Given the description of an element on the screen output the (x, y) to click on. 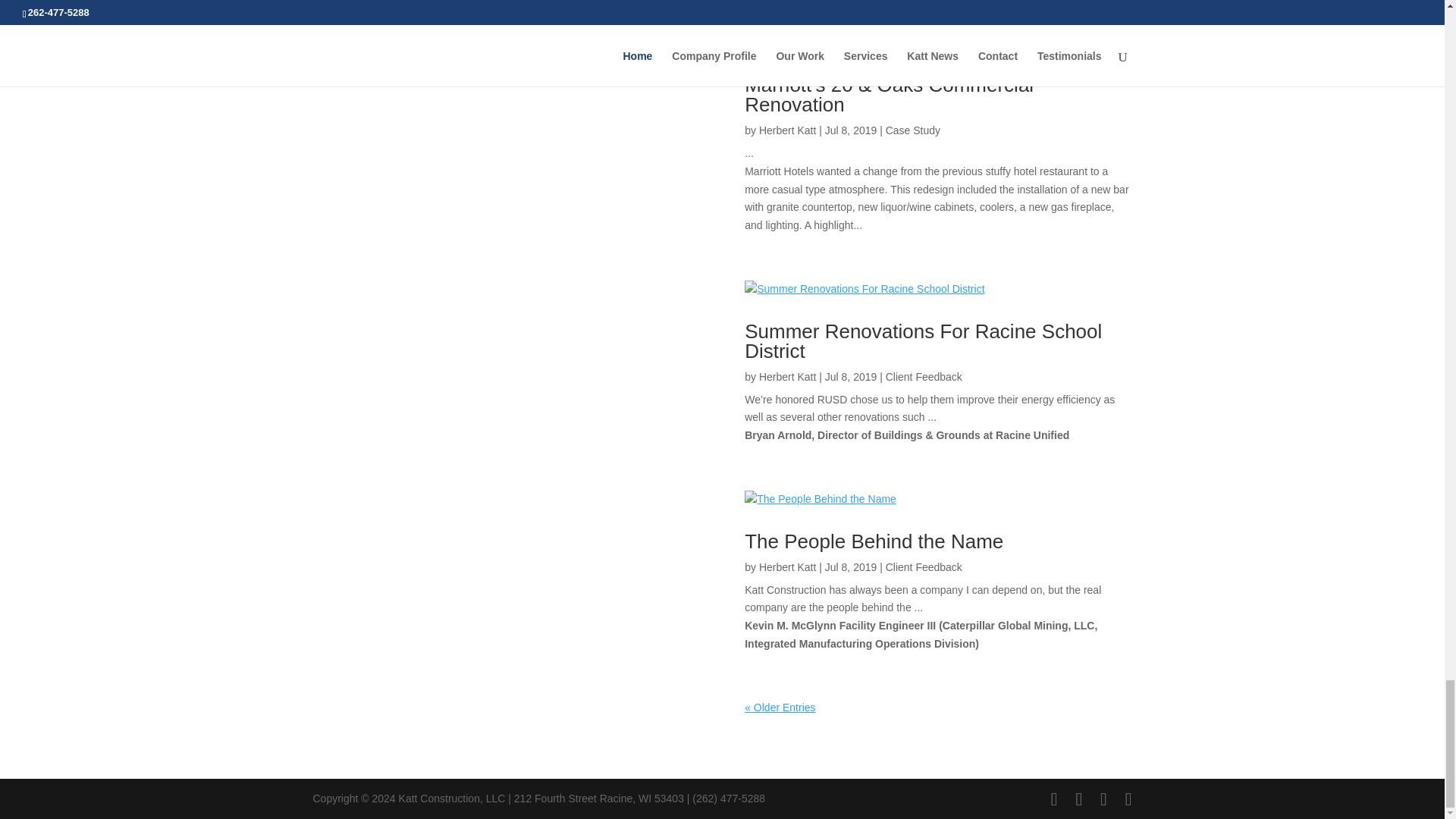
Posts by Herbert Katt (786, 130)
Posts by Herbert Katt (786, 567)
Posts by Herbert Katt (786, 377)
